Given the description of an element on the screen output the (x, y) to click on. 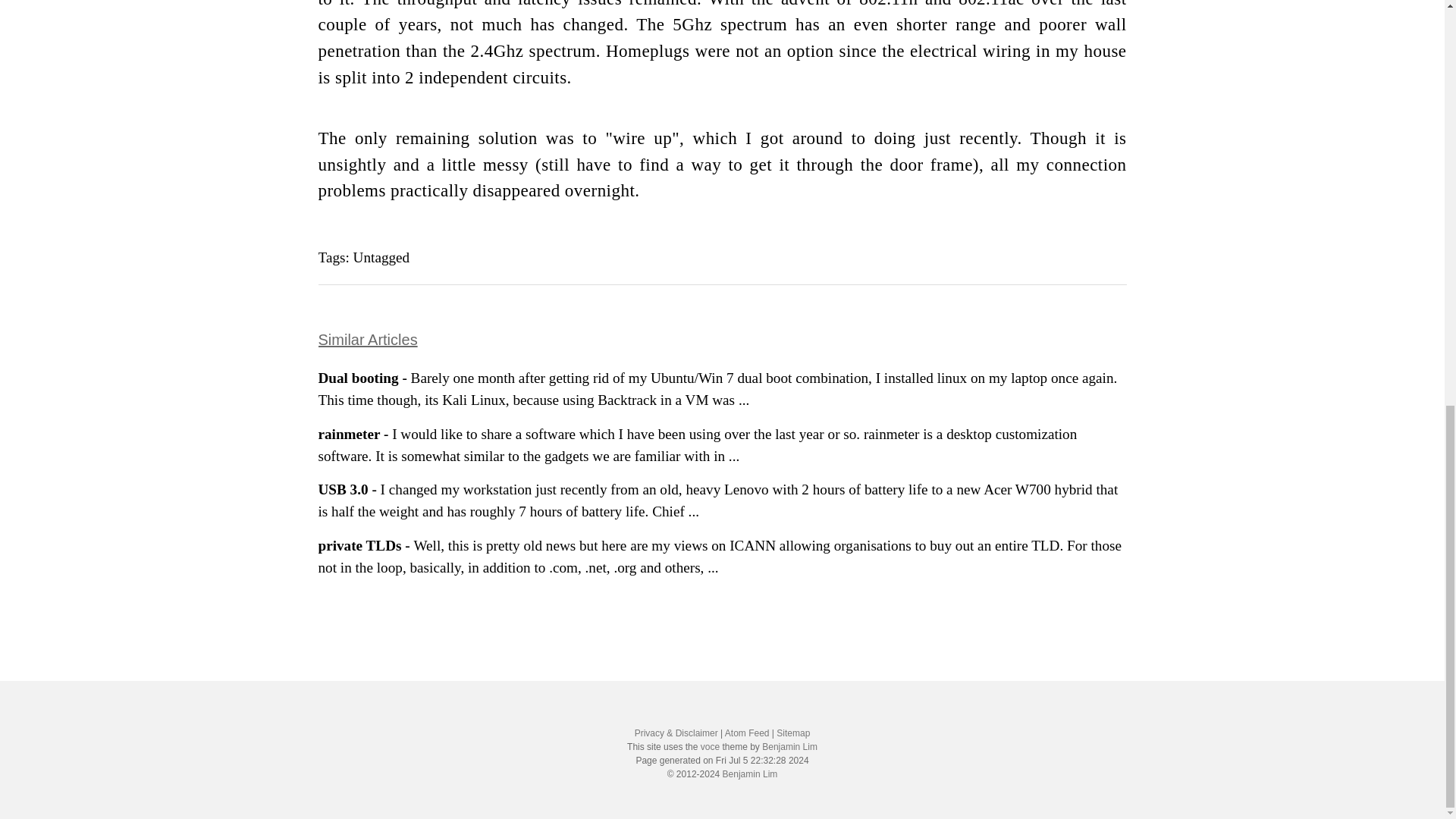
Untagged (381, 257)
Benjamin Lim (788, 747)
voce (709, 747)
Benjamin Lim (749, 774)
Sitemap (792, 733)
Atom Feed (747, 733)
